Given the description of an element on the screen output the (x, y) to click on. 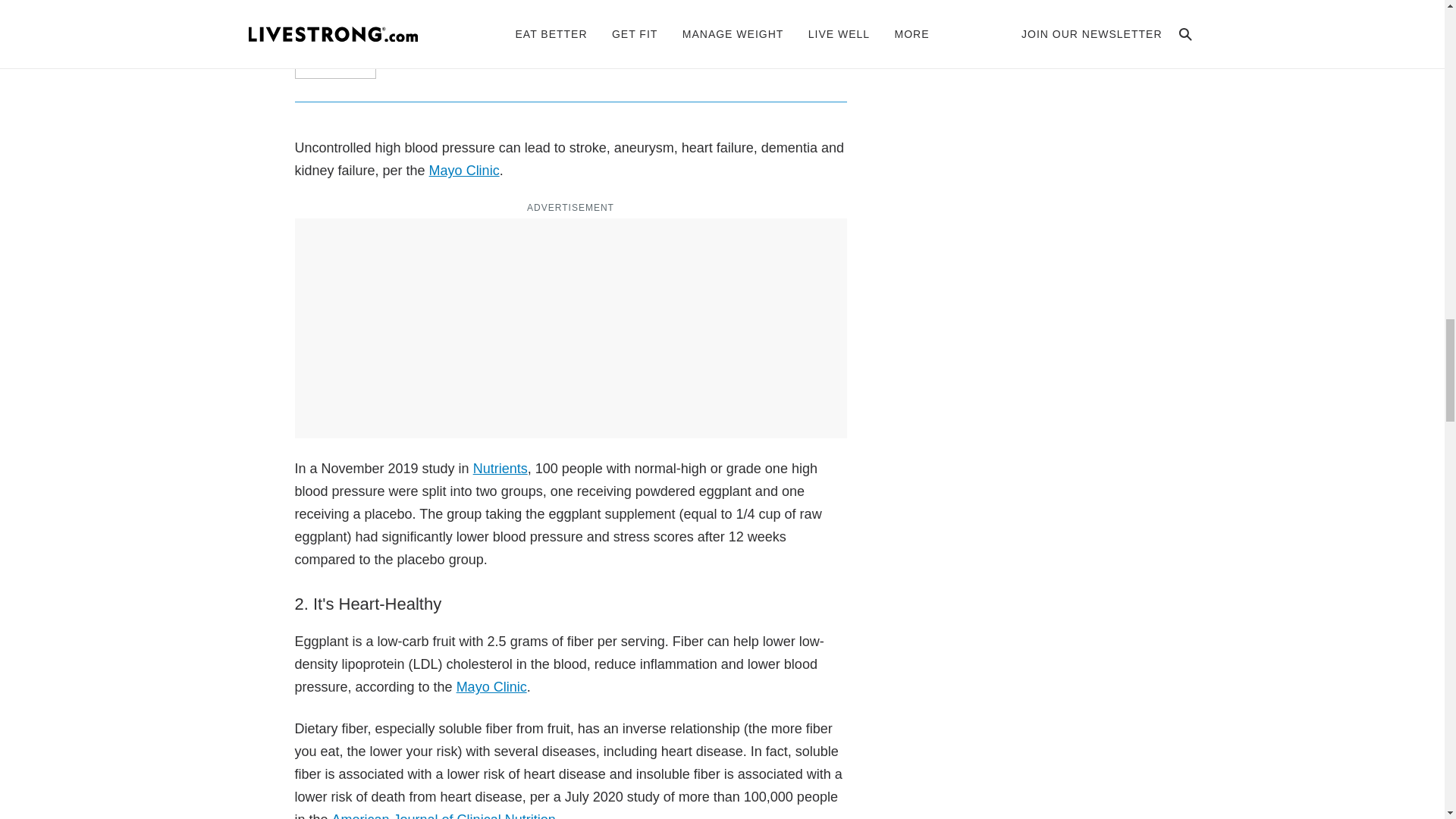
20 Delicious Berry Smoothie Recipes to Fight Inflammation (564, 56)
Mayo Clinic (464, 170)
